Given the description of an element on the screen output the (x, y) to click on. 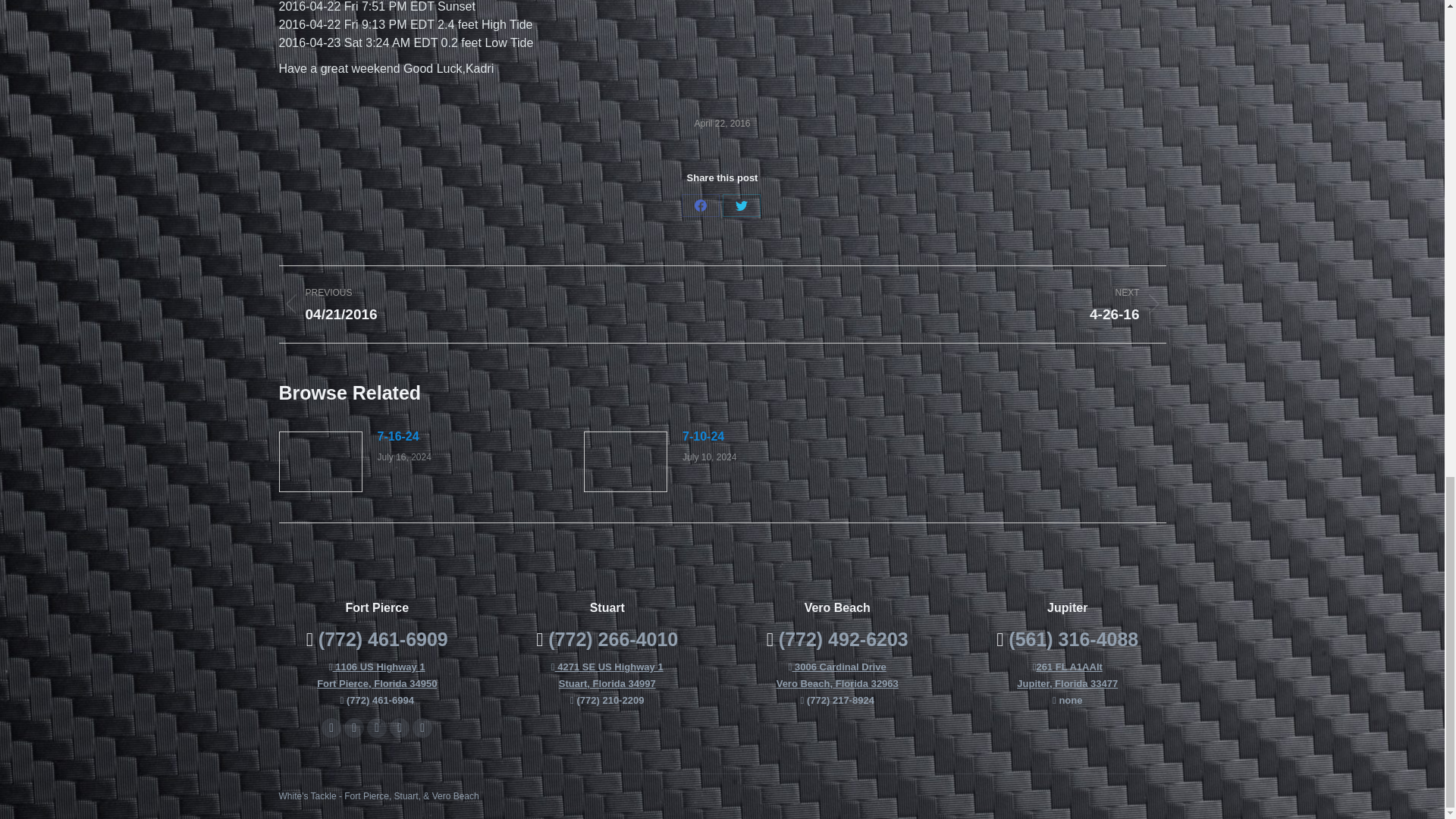
Vimeo page opens in new window (376, 727)
Facebook page opens in new window (330, 727)
Instagram page opens in new window (399, 727)
Mail page opens in new window (422, 727)
Share on Twitter (741, 205)
Twitter (741, 205)
April 22, 2016 (376, 674)
7-16-24 (721, 123)
YouTube page opens in new window (398, 436)
Facebook page opens in new window (955, 304)
Facebook (353, 727)
